Given the description of an element on the screen output the (x, y) to click on. 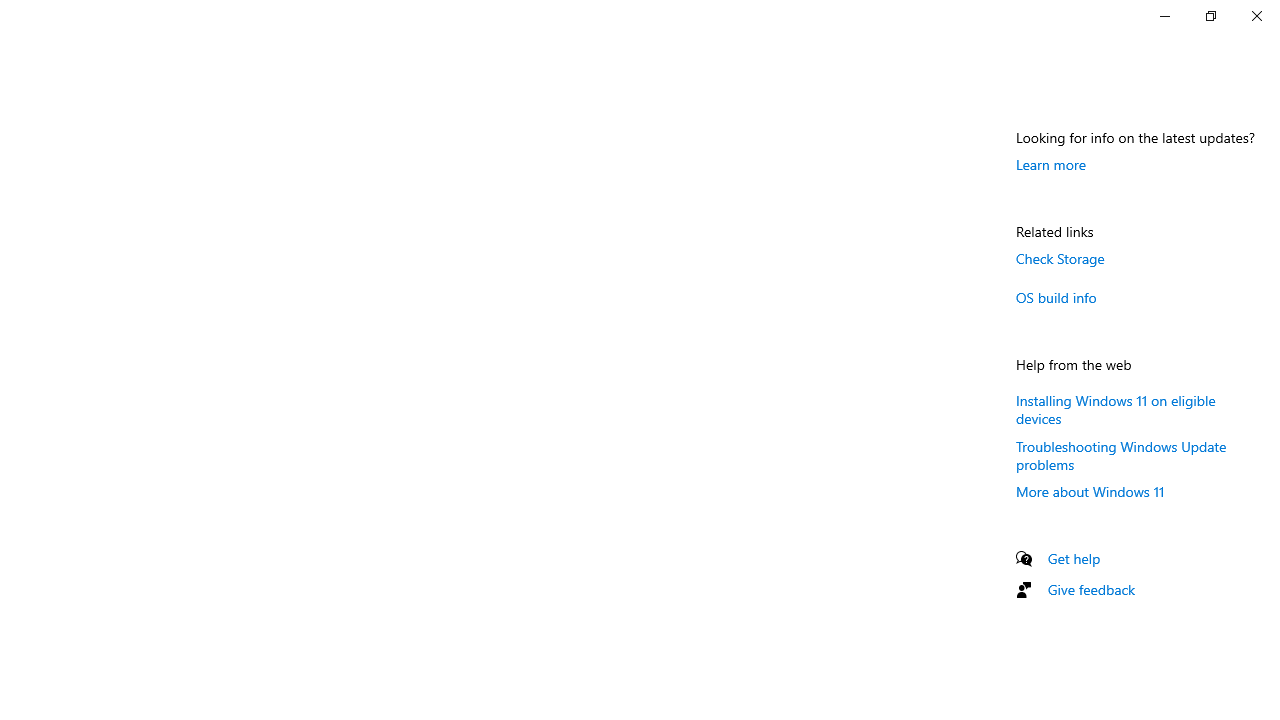
Give feedback (1091, 589)
Get help (1074, 558)
Restore Settings (1210, 15)
Check Storage (1060, 258)
Close Settings (1256, 15)
More about Windows 11 (1090, 491)
Learn more (1051, 164)
Troubleshooting Windows Update problems (1121, 454)
Minimize Settings (1164, 15)
Installing Windows 11 on eligible devices (1116, 408)
OS build info (1056, 297)
